Given the description of an element on the screen output the (x, y) to click on. 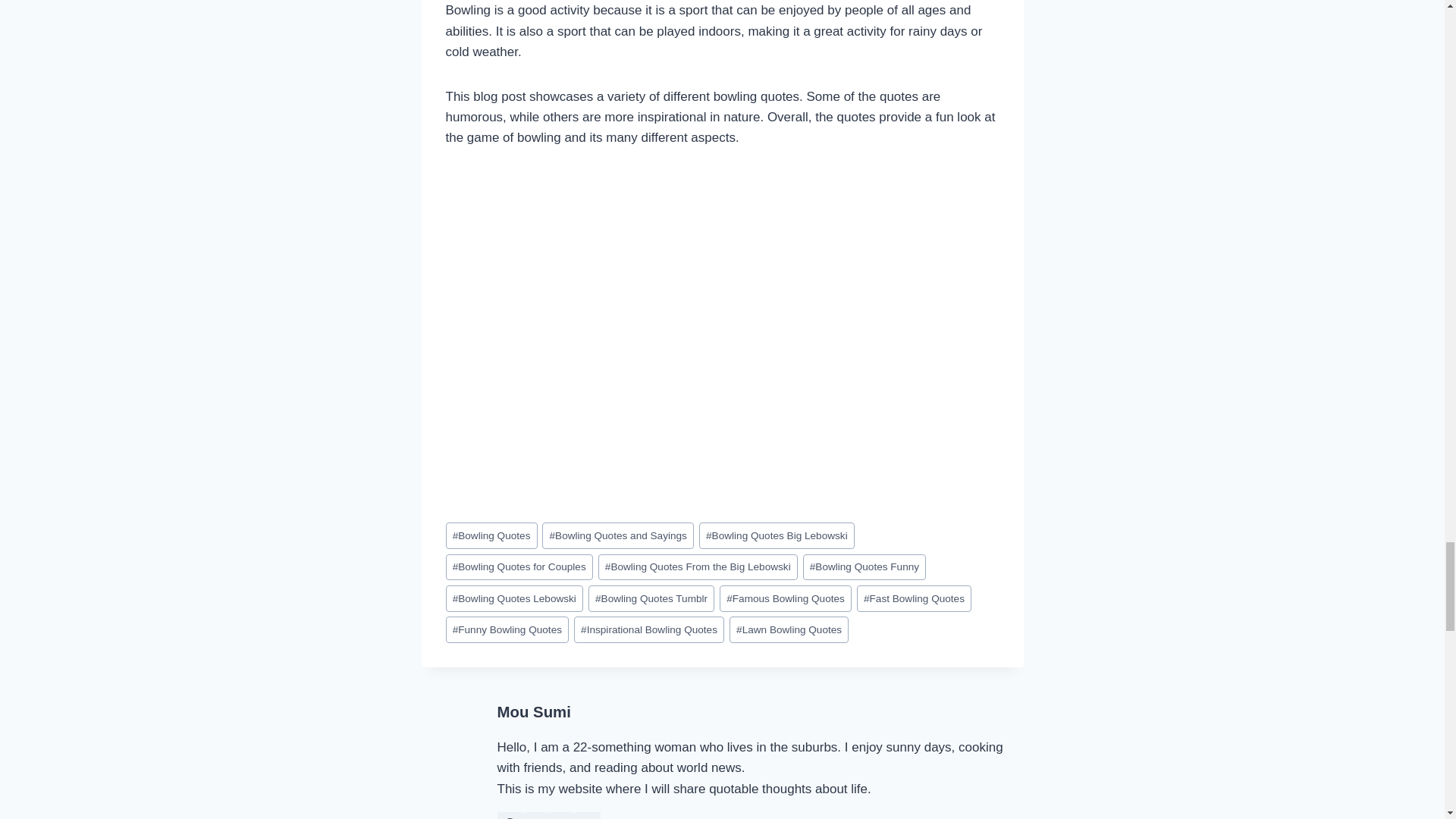
Inspirational Bowling Quotes (648, 629)
Mou Sumi (533, 711)
Famous Bowling Quotes (785, 598)
Bowling Quotes Funny (864, 567)
Bowling Quotes Big Lebowski (776, 535)
Bowling Quotes Tumblr (651, 598)
Posts by Mou Sumi (533, 711)
Follow Mou Sumi on Twitter (535, 815)
Bowling Quotes (491, 535)
Follow Mou Sumi on Facebook (509, 815)
Lawn Bowling Quotes (788, 629)
Funny Bowling Quotes (507, 629)
Bowling Quotes and Sayings (617, 535)
Bowling Quotes From the Big Lebowski (697, 567)
Bowling Quotes for Couples (518, 567)
